Given the description of an element on the screen output the (x, y) to click on. 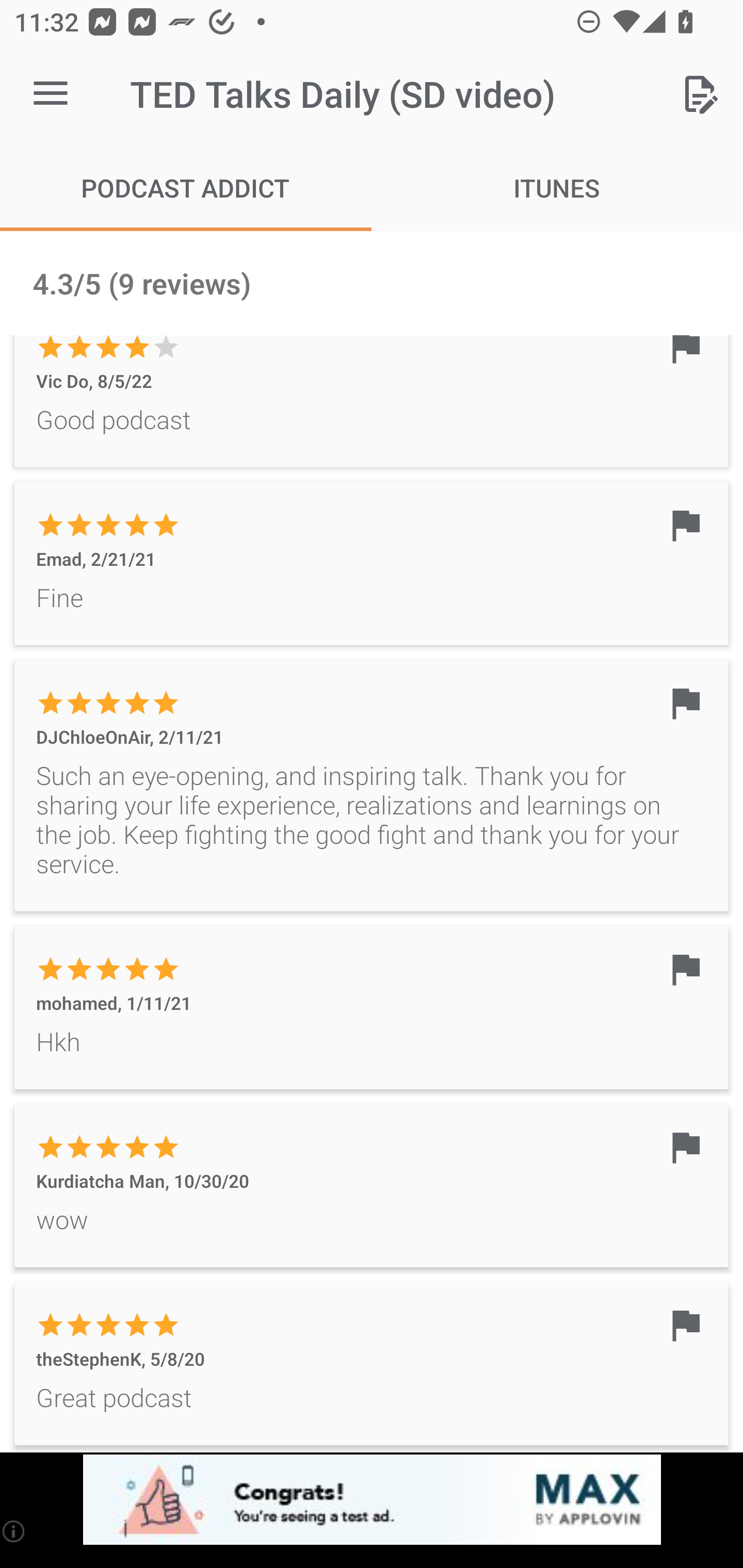
Open navigation sidebar (50, 93)
Rate this podcast (699, 93)
iTunes ITUNES (557, 187)
Flag as inappropriate (684, 351)
Flag as inappropriate (684, 525)
Flag as inappropriate (684, 703)
Flag as inappropriate (684, 968)
Flag as inappropriate (684, 1146)
Flag as inappropriate (684, 1324)
app-monetization (371, 1500)
(i) (14, 1531)
